Given the description of an element on the screen output the (x, y) to click on. 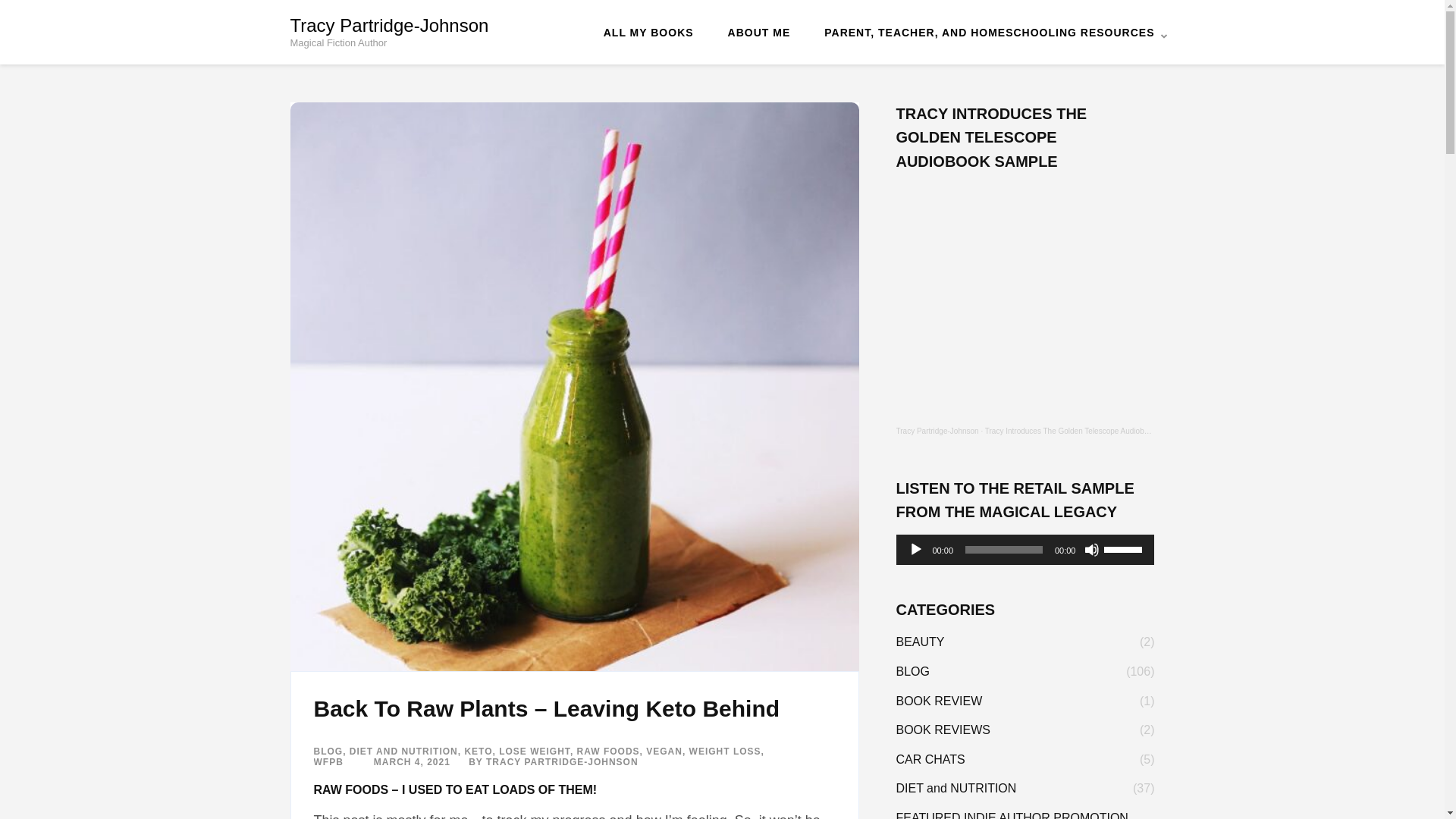
Tracy Introduces The Golden Telescope Audiobook Sample (1085, 430)
Play (915, 549)
ABOUT ME (759, 31)
CAR CHATS (930, 759)
BOOK REVIEW (939, 701)
BEAUTY (920, 641)
KETO (478, 751)
Tracy Partridge-Johnson (937, 430)
ALL MY BOOKS (649, 31)
BLOG (328, 751)
BLOG (913, 671)
Mute (1091, 549)
Tracy Partridge-Johnson (388, 25)
TRACY PARTRIDGE-JOHNSON (562, 761)
Tracy Partridge-Johnson (937, 430)
